Given the description of an element on the screen output the (x, y) to click on. 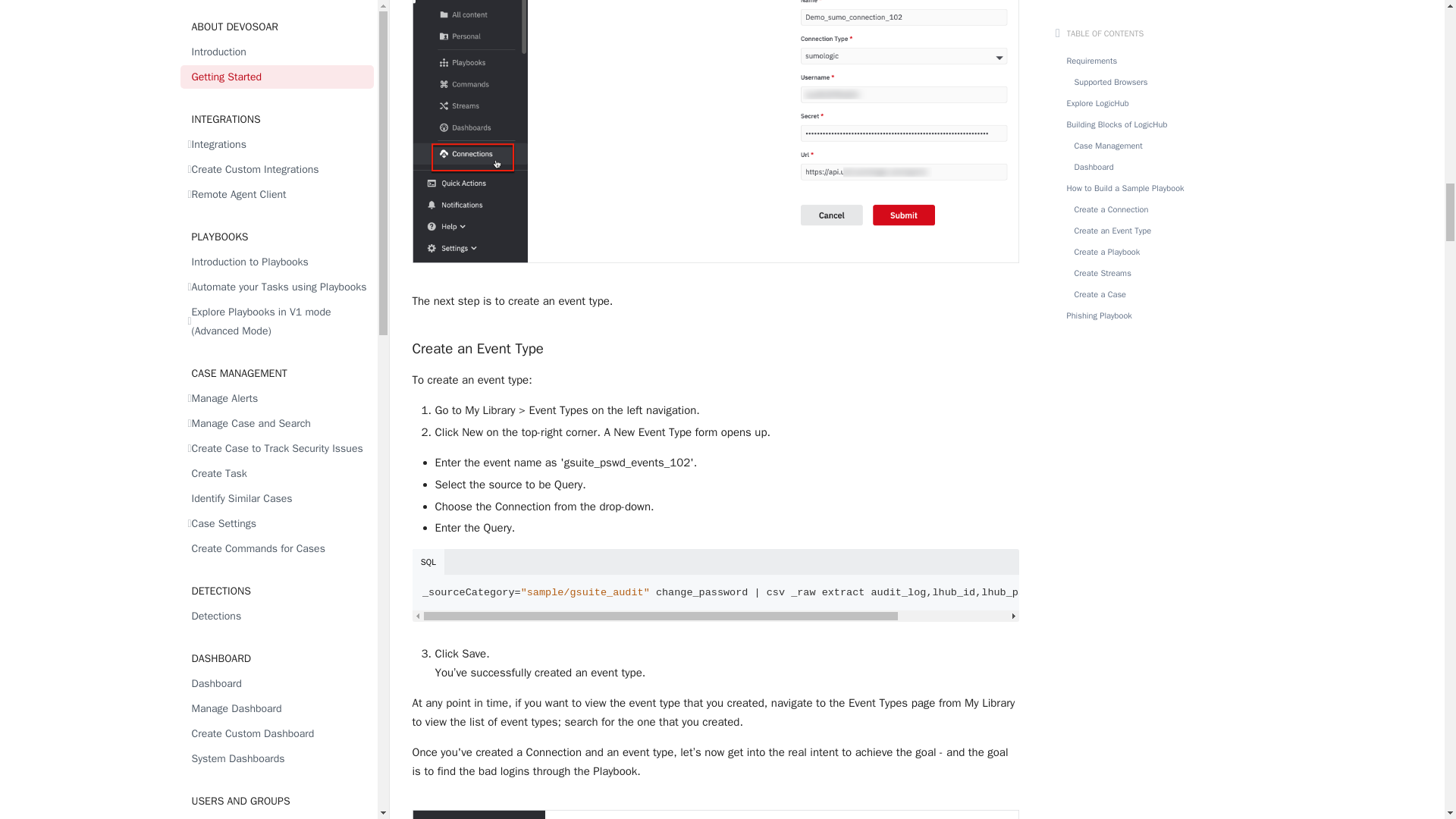
Event-Types.png (715, 805)
Create an Event Type (715, 342)
